Given the description of an element on the screen output the (x, y) to click on. 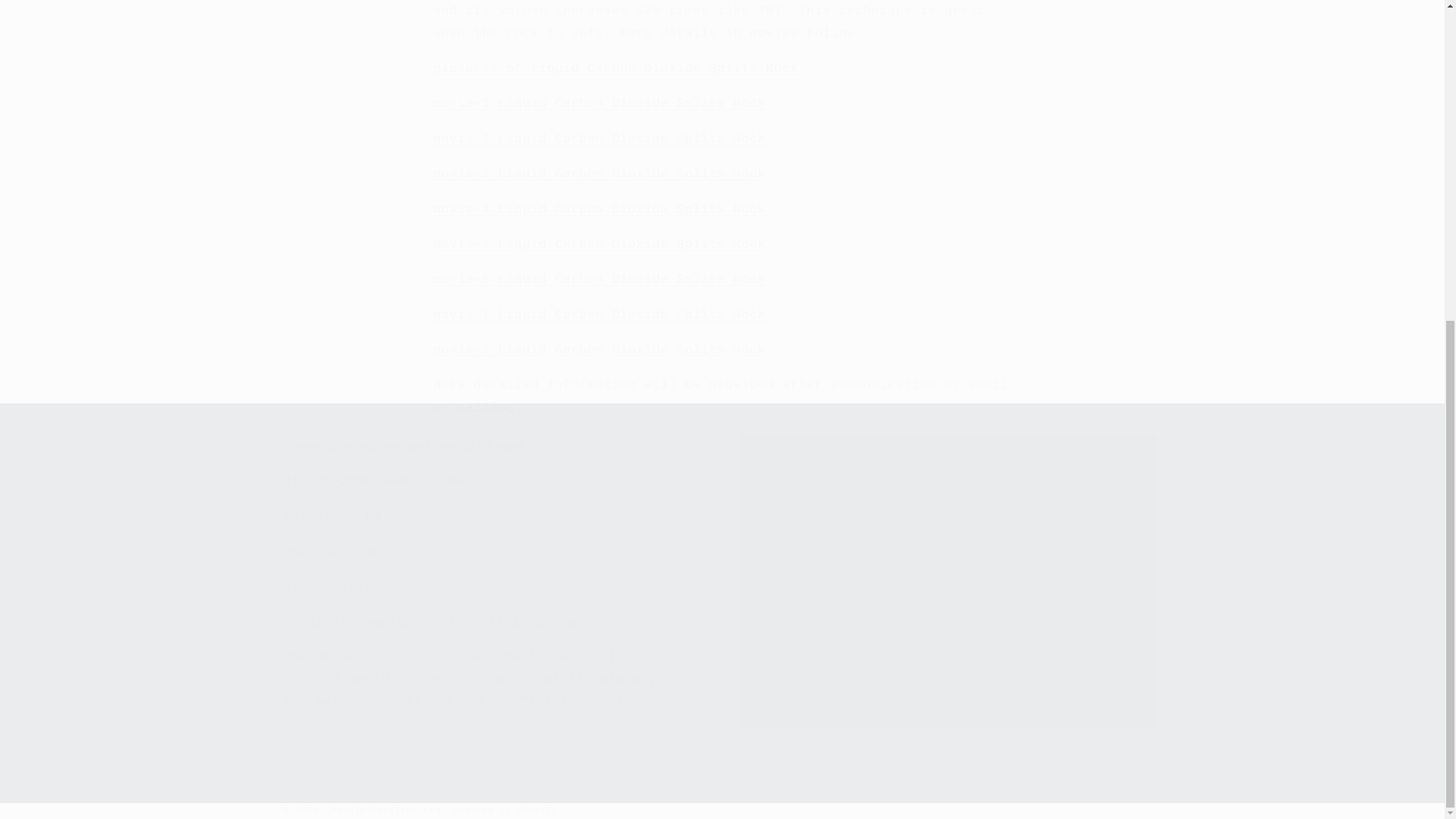
movie-6 Liquid Carbon Dioxide Splits Rock (598, 278)
pictures of Liquid Carbon Dioxide Splits Rock  (619, 68)
movie-8 Liquid Carbon Dioxide Splits Rock (598, 350)
movie-7 Liquid Carbon Dioxide Splits Rock (598, 314)
movie-2 Liquid Carbon Dioxide Splits Rock (598, 138)
pictures of Liquid Carbon Dioxide Splits Rock (619, 68)
movie-4 Liquid Carbon Dioxide Splits Rock (598, 209)
movie-6 Liquid Carbon Dioxide Splits Rock (598, 278)
Purple Pavilion Ltd. (388, 809)
movie-1 Liquid Carbon Dioxide Splits Rock (598, 103)
movie-3 Liquid Carbon Dioxide Splits Rock (598, 173)
movie-8 Liquid Carbon Dioxide Splits Rock (598, 350)
movie-4 Liquid Carbon Dioxide Splits Rock (598, 209)
movie-5 Liquid Carbon Dioxide Splits Rock (598, 244)
